Given the description of an element on the screen output the (x, y) to click on. 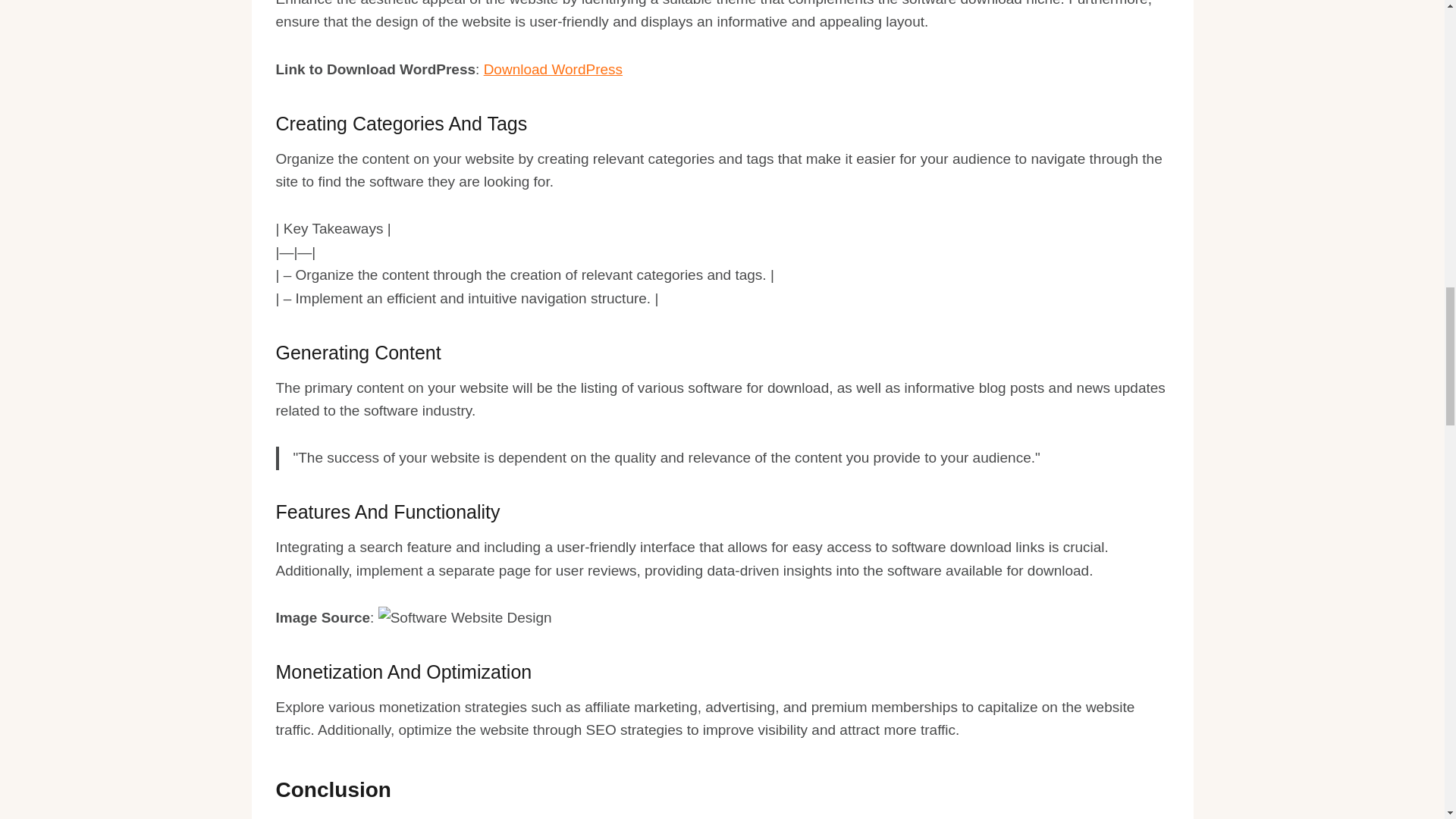
Download WordPress (553, 68)
